Given the description of an element on the screen output the (x, y) to click on. 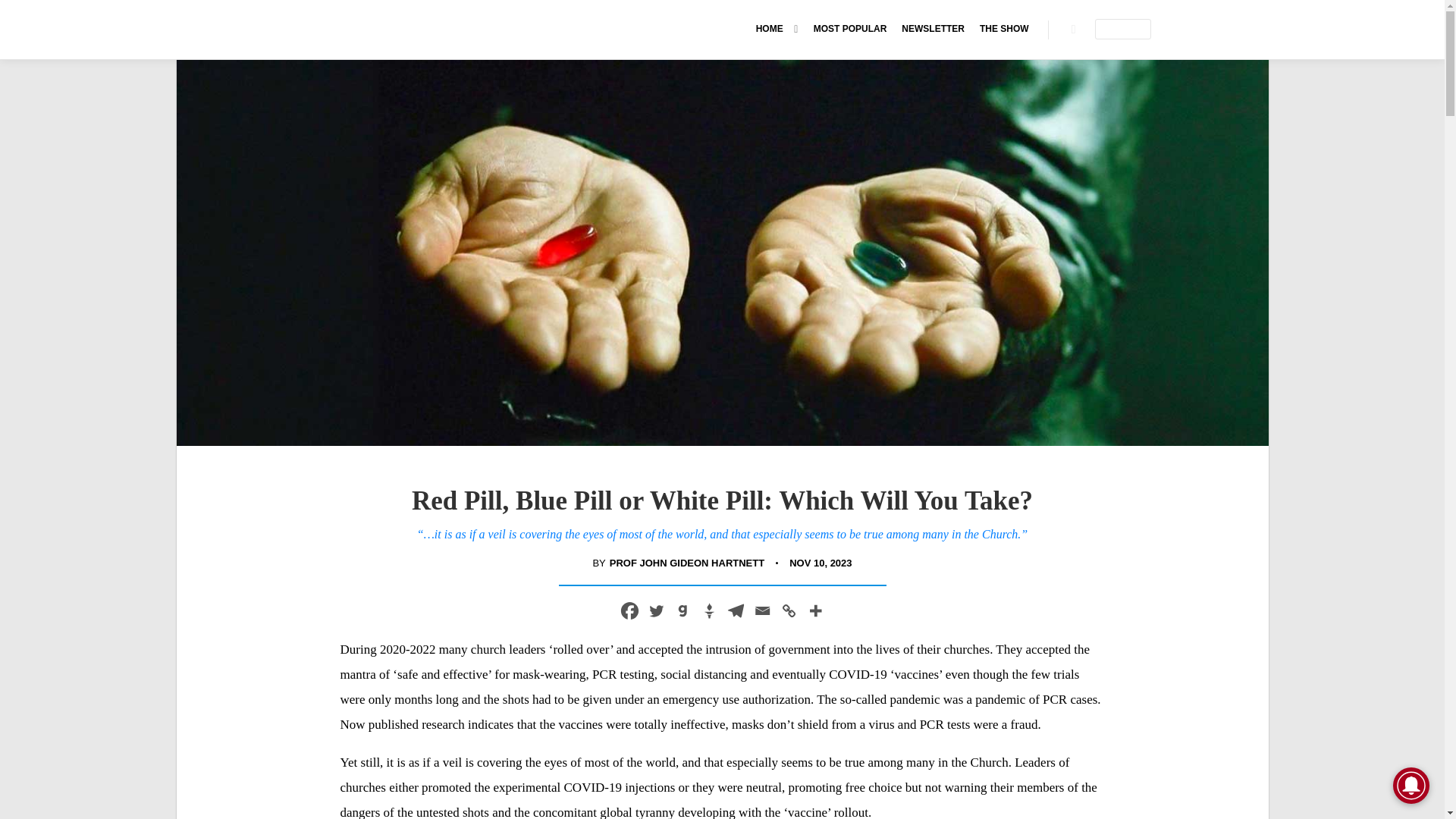
Copy Link (787, 610)
More (815, 610)
Search (1073, 29)
Facebook (628, 610)
Email (762, 610)
Caldron Pool (384, 29)
NEWSLETTER (932, 29)
Gettr (708, 610)
THE SHOW (1004, 29)
PROF JOHN GIDEON HARTNETT (687, 563)
